Given the description of an element on the screen output the (x, y) to click on. 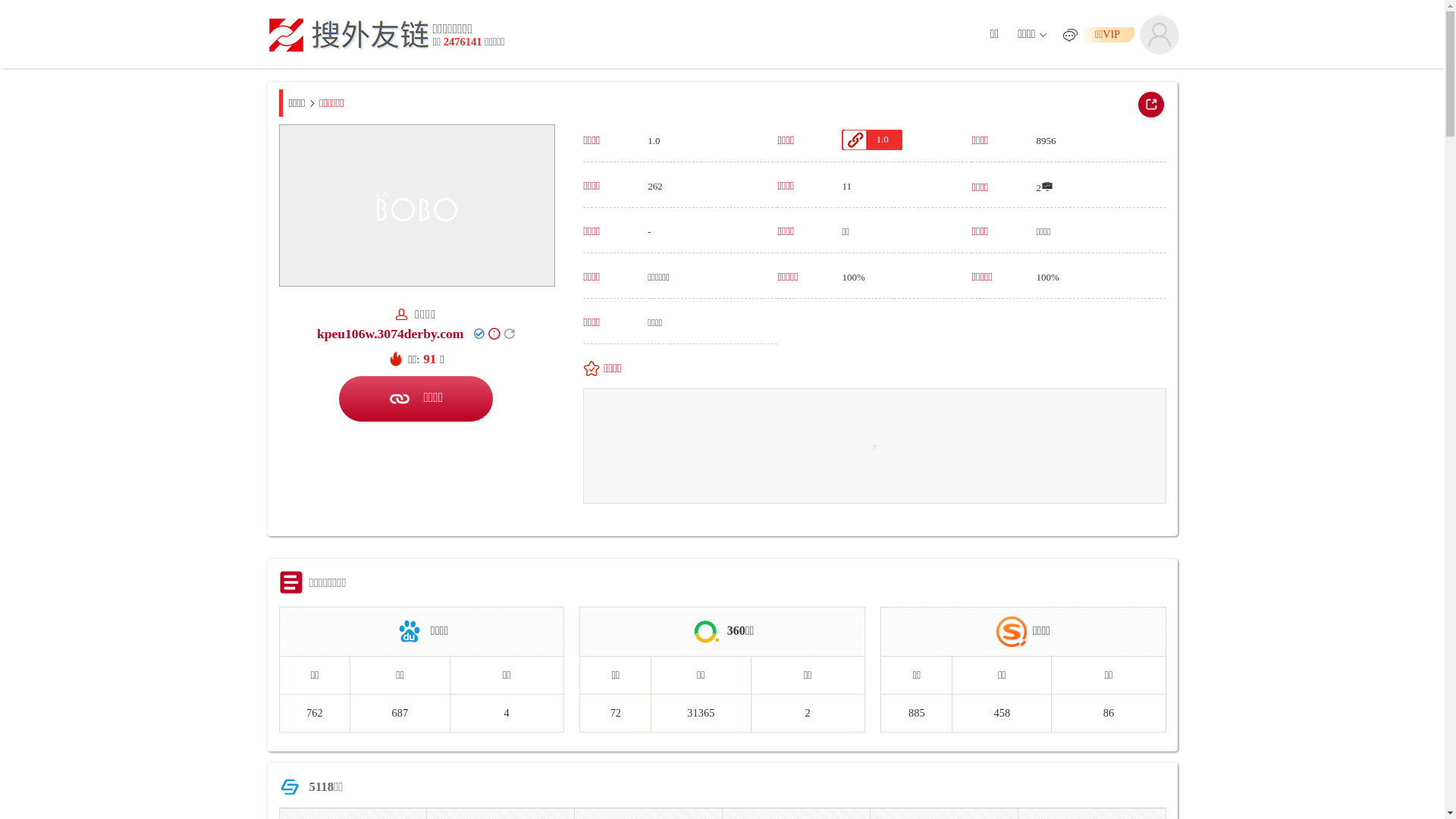
kpeu106w.3074derby.com Element type: text (390, 333)
